Given the description of an element on the screen output the (x, y) to click on. 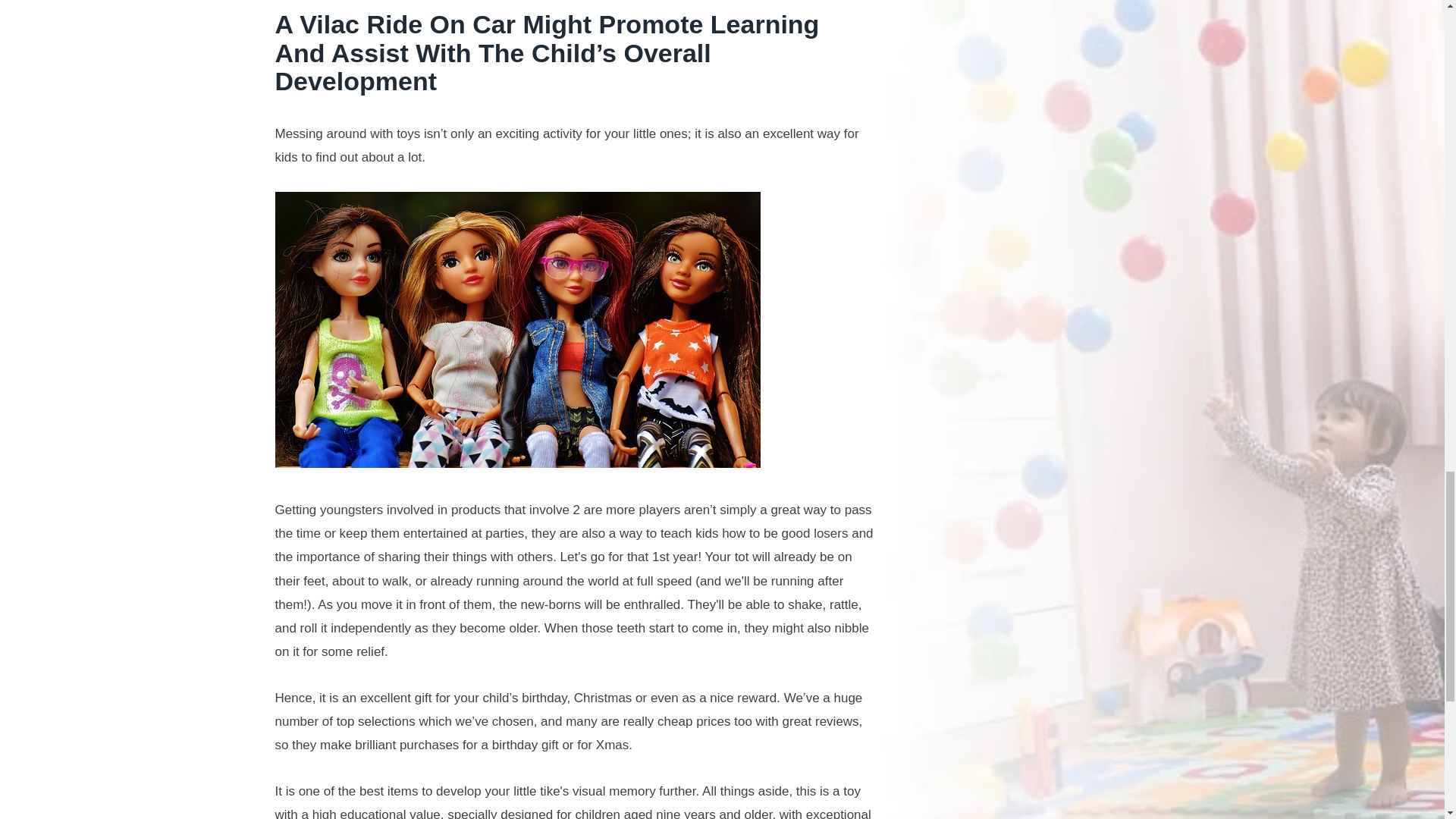
Toy Boy 6 Year Old (517, 329)
